Given the description of an element on the screen output the (x, y) to click on. 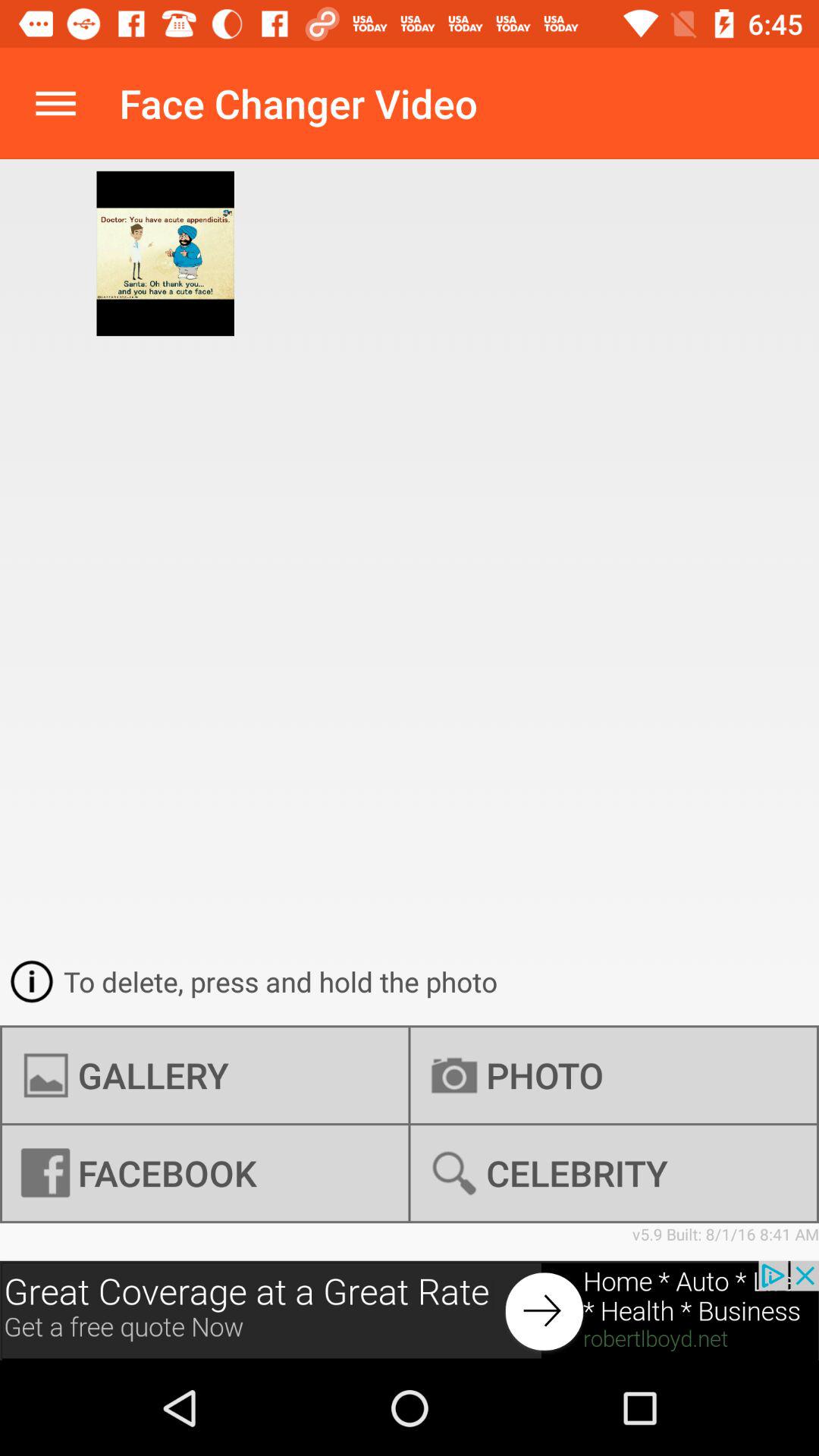
flip to the celebrity icon (613, 1173)
